Given the description of an element on the screen output the (x, y) to click on. 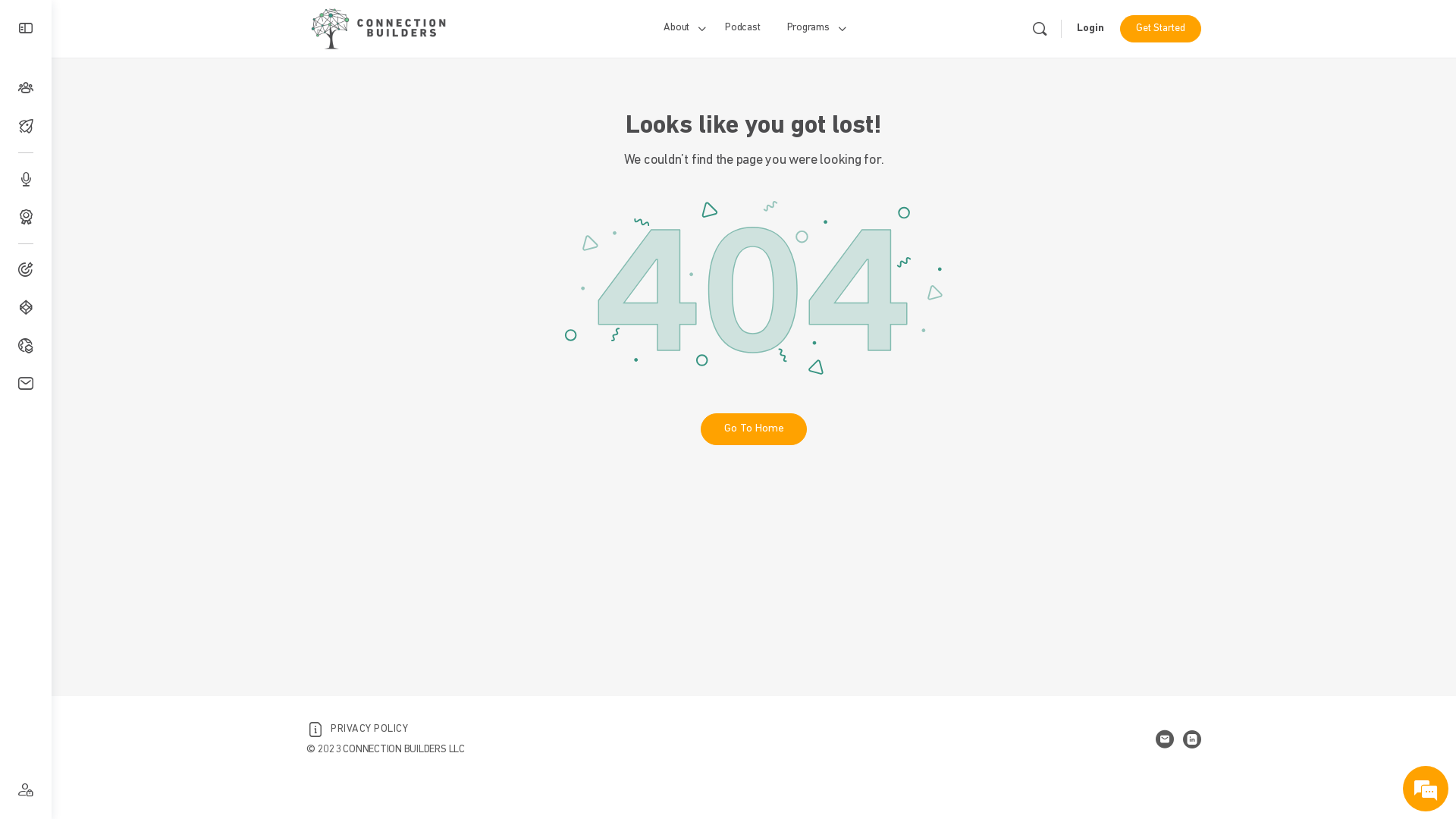
Login Element type: text (1090, 28)
PRIVACY POLICY Element type: text (356, 728)
About Element type: text (682, 28)
Podcast Element type: text (742, 28)
Programs Element type: text (814, 28)
Get Started Element type: text (1160, 28)
Go To Home Element type: text (753, 429)
